Given the description of an element on the screen output the (x, y) to click on. 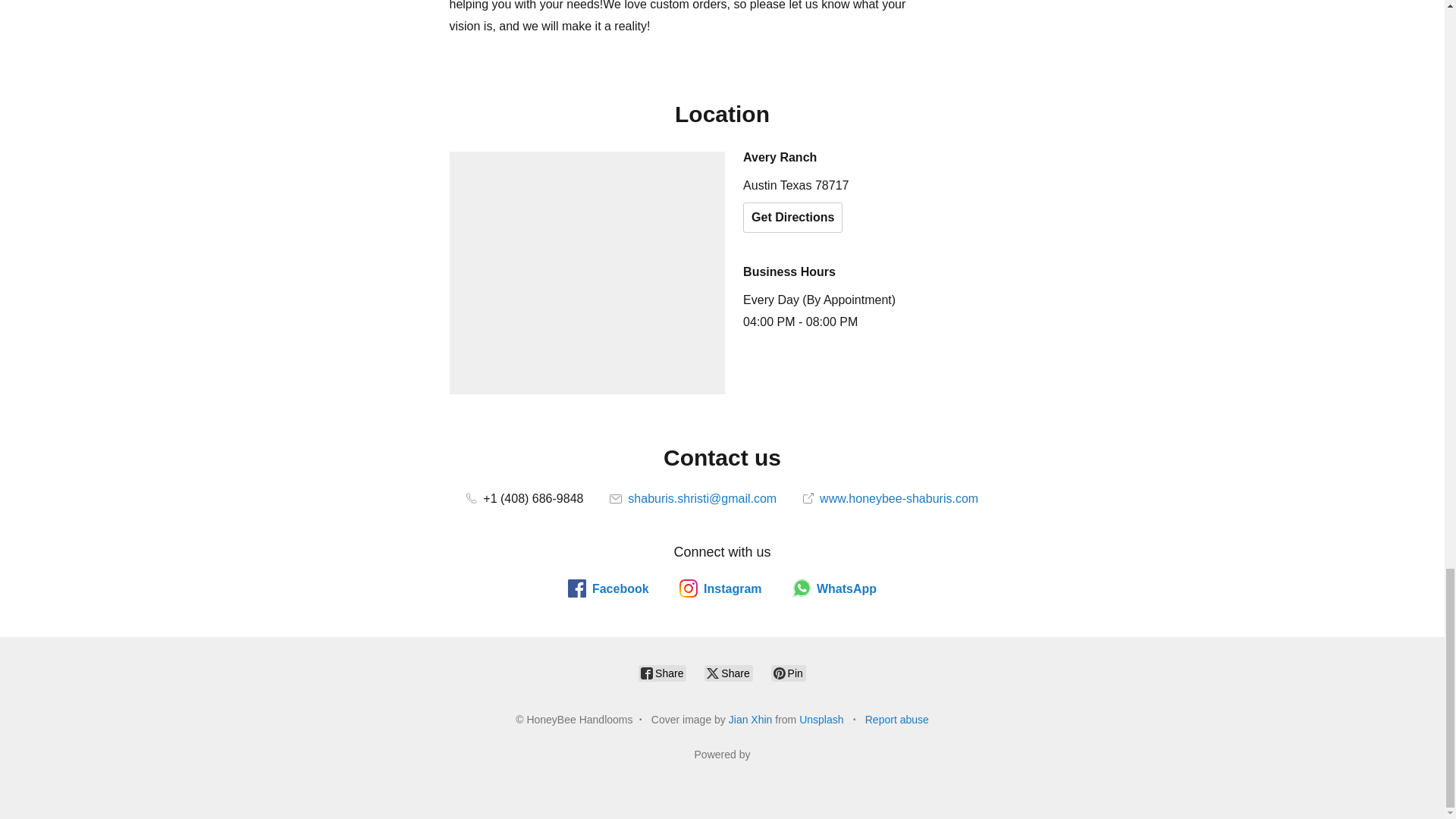
Jian Xhin (751, 719)
www.honeybee-shaburis.com (890, 498)
WhatsApp (834, 588)
Facebook (608, 588)
Share (728, 673)
Location on map (586, 272)
Pin (788, 673)
Instagram (720, 588)
Unsplash (821, 719)
Share (662, 673)
Get Directions (792, 217)
